Given the description of an element on the screen output the (x, y) to click on. 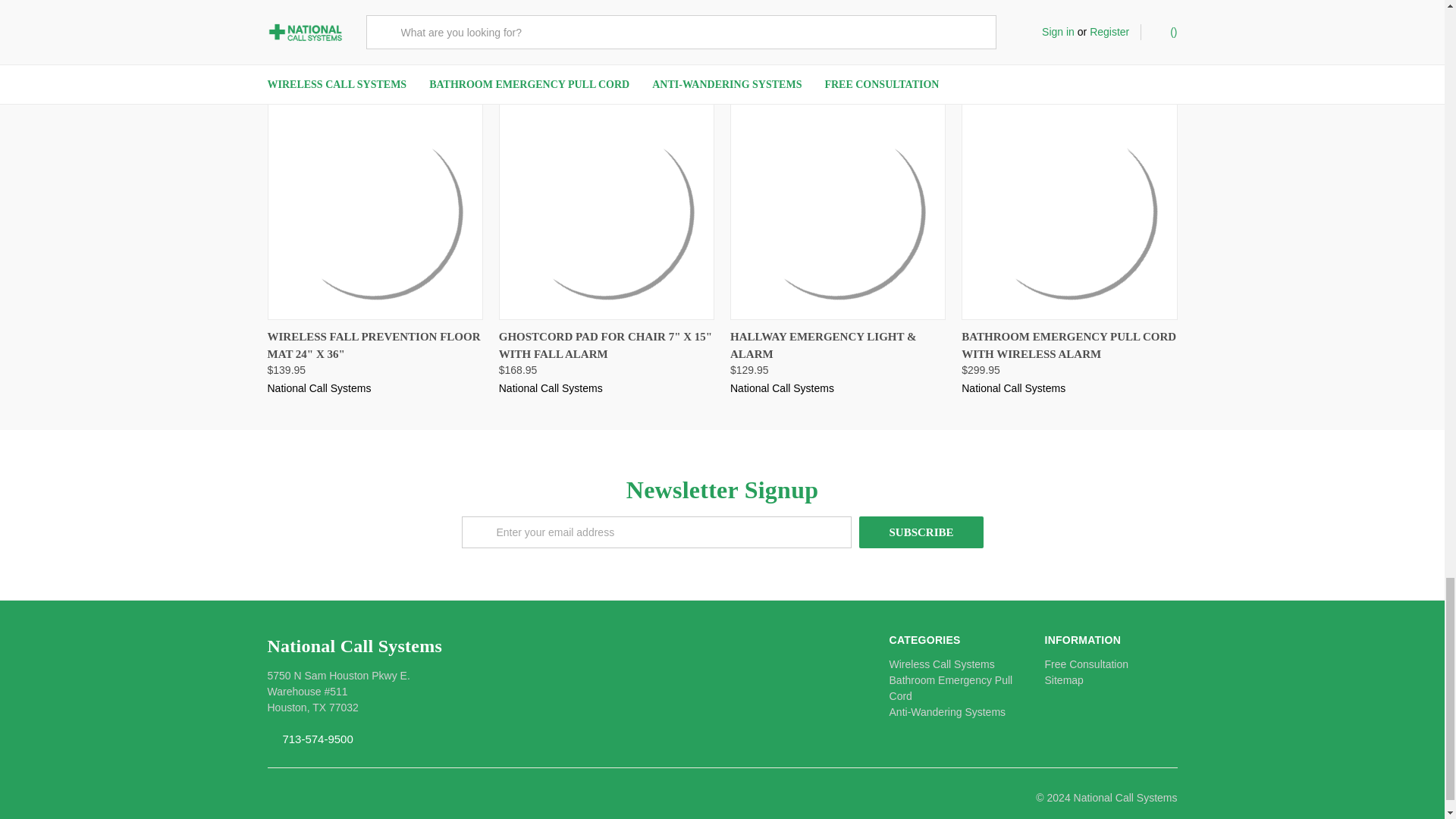
GhostCord Pad for Chair 7" x 15" with Fall Alarm (606, 212)
FMT-05C Cordless Floor Mat (374, 212)
Subscribe (920, 531)
Bathroom Emergency Pull Cord System with Wireless Alarm  (1069, 212)
